Given the description of an element on the screen output the (x, y) to click on. 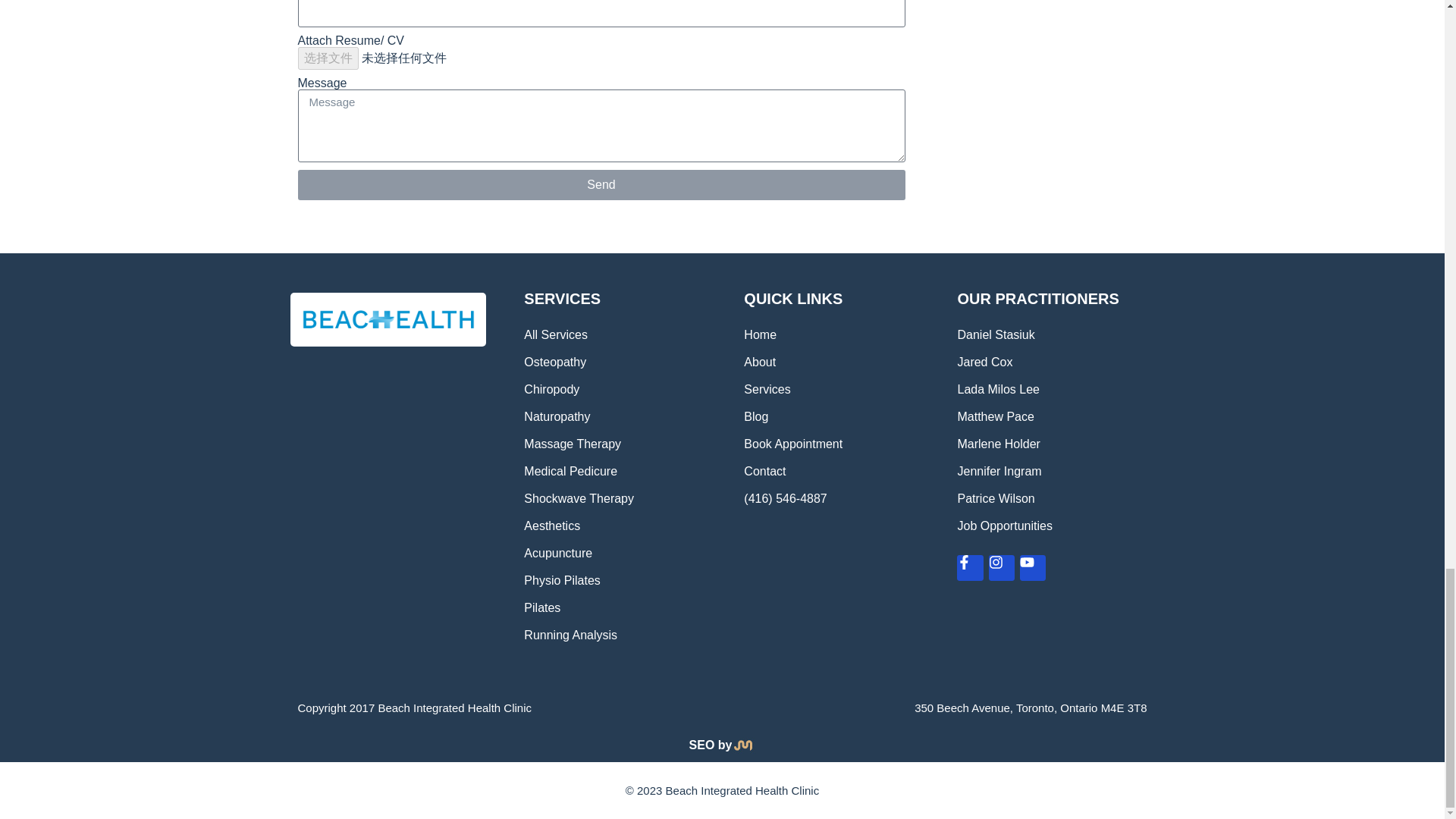
Osteopathy (618, 361)
Send (600, 184)
All Services (618, 334)
